Given the description of an element on the screen output the (x, y) to click on. 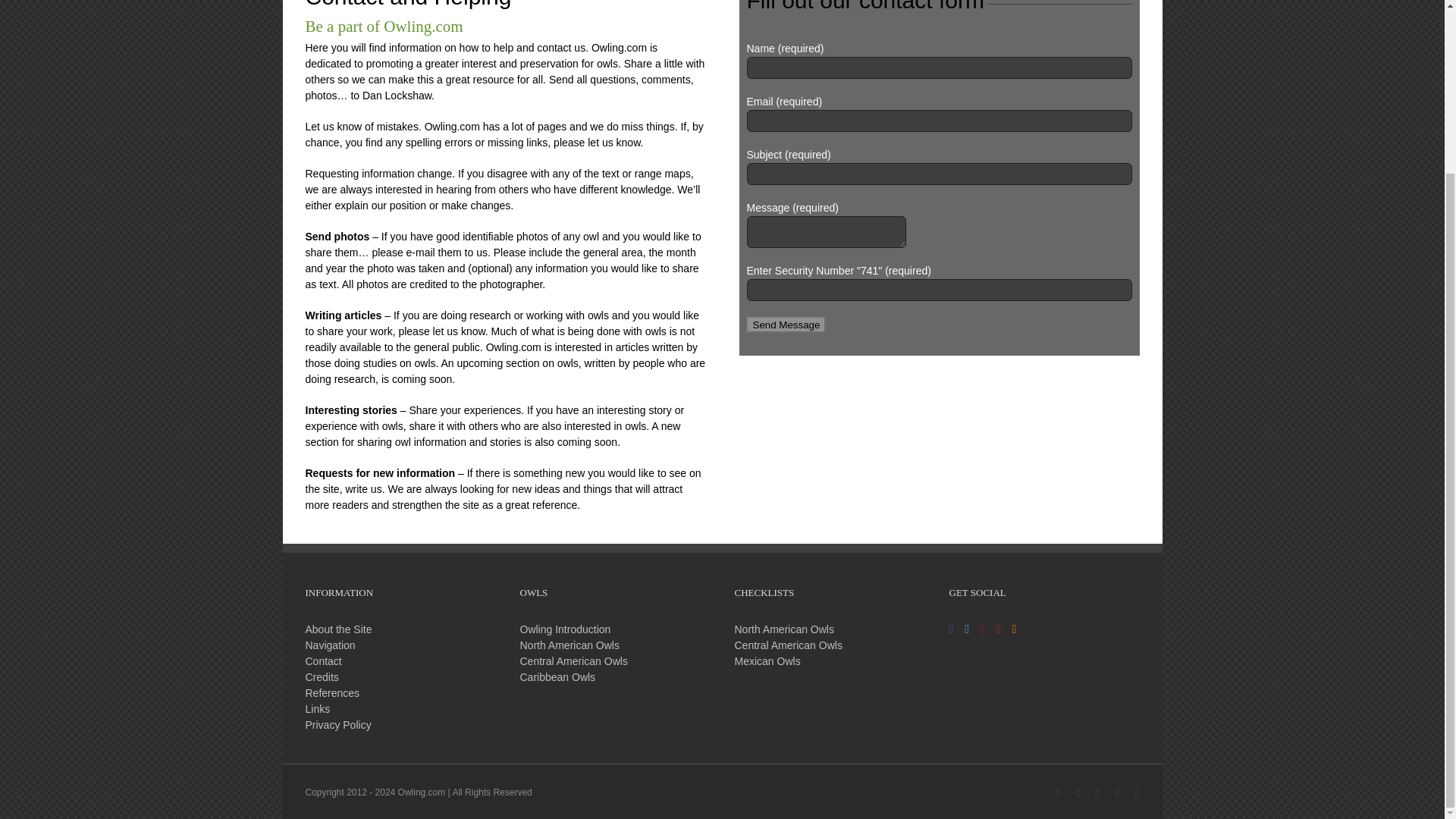
Send Message (785, 324)
